Given the description of an element on the screen output the (x, y) to click on. 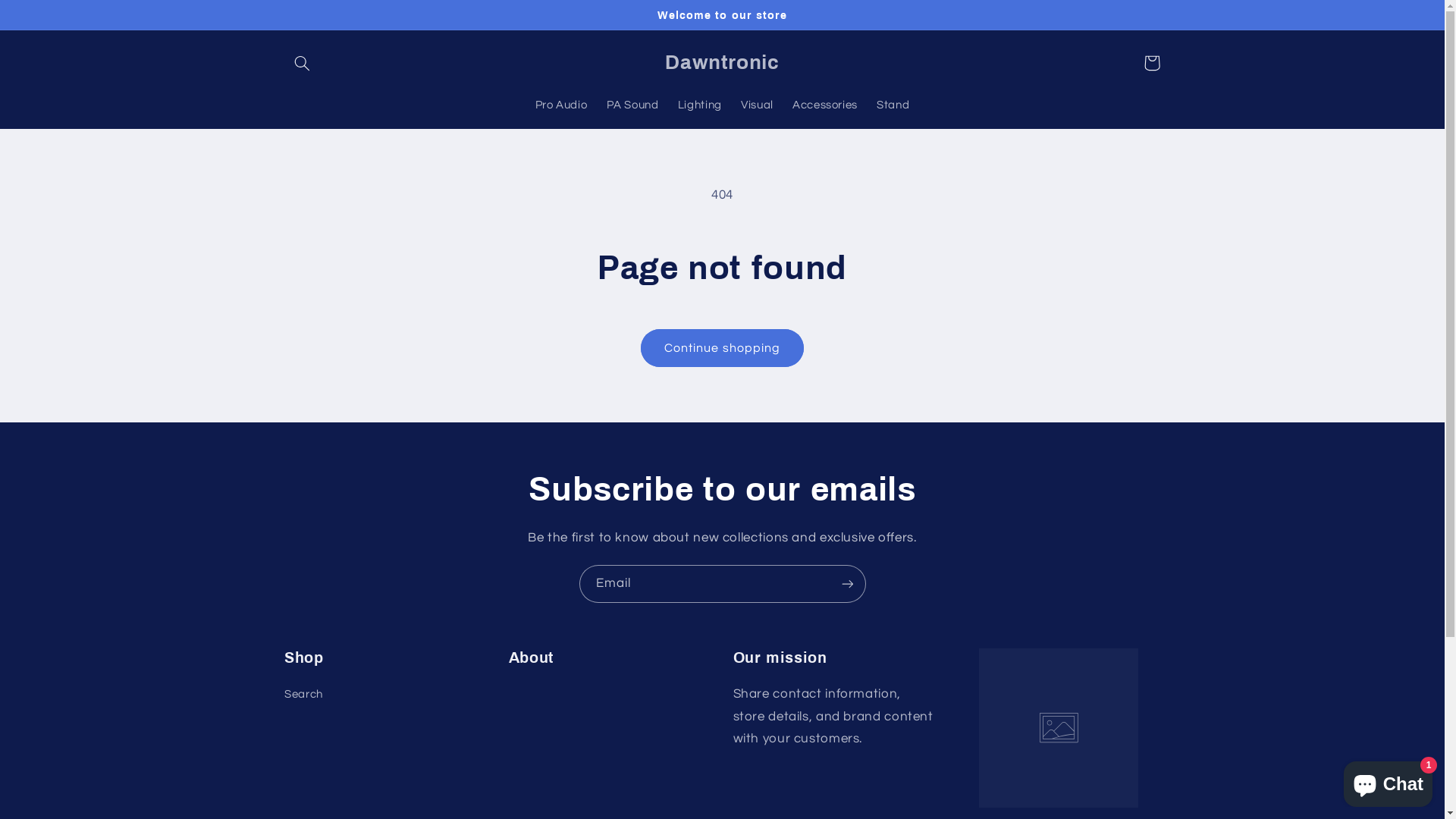
Shopify online store chat Element type: hover (1388, 780)
Cart Element type: text (1151, 62)
Continue shopping Element type: text (722, 347)
Pro Audio Element type: text (560, 105)
Visual Element type: text (756, 105)
Search Element type: text (303, 696)
Lighting Element type: text (699, 105)
Dawntronic Element type: text (721, 62)
PA Sound Element type: text (632, 105)
Stand Element type: text (893, 105)
Accessories Element type: text (824, 105)
